Given the description of an element on the screen output the (x, y) to click on. 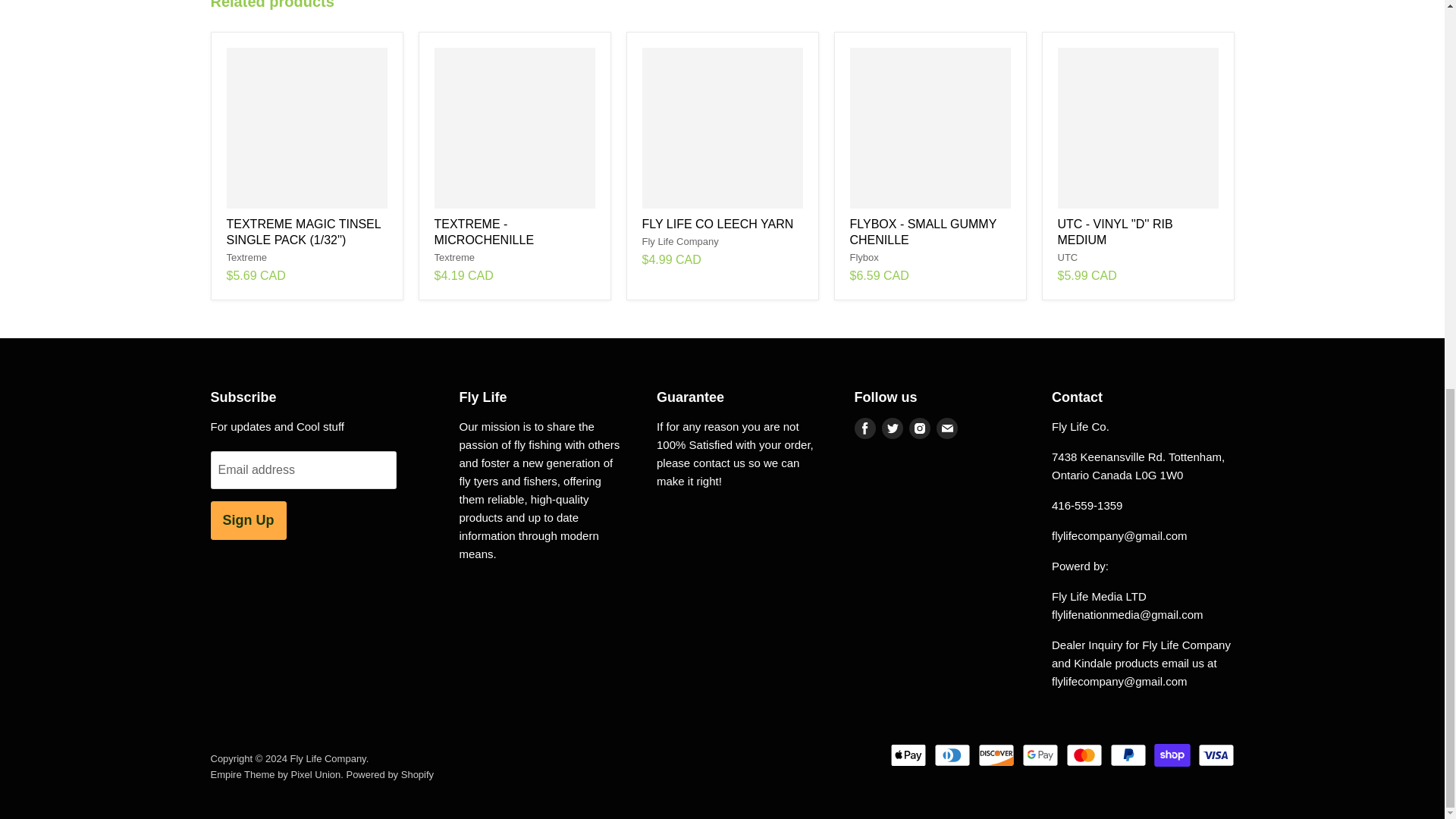
Google Pay (1040, 754)
E-mail (946, 428)
Twitter (891, 428)
Instagram (919, 428)
Discover (996, 754)
Facebook (863, 428)
Apple Pay (907, 754)
Diners Club (952, 754)
